Given the description of an element on the screen output the (x, y) to click on. 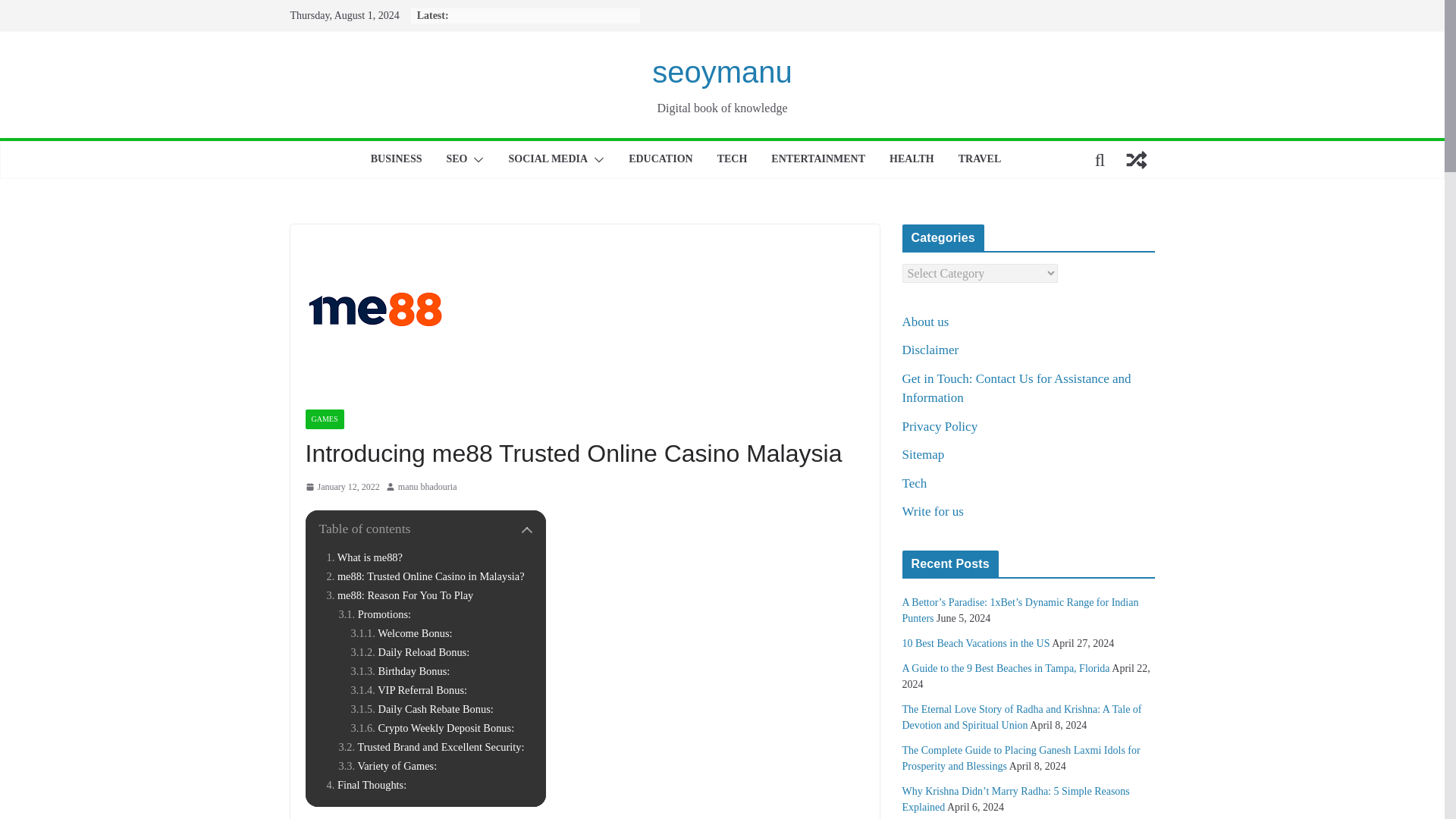
EDUCATION (660, 159)
manu bhadouria (427, 487)
ENTERTAINMENT (817, 159)
SOCIAL MEDIA (548, 159)
Birthday Bonus: (399, 671)
TRAVEL (979, 159)
VIP Referral Bonus: (408, 689)
me88: Trusted Online Casino in Malaysia? (425, 576)
Introducing me88 Trusted Online Casino Malaysia 1 (374, 308)
What is me88? (363, 557)
Welcome Bonus: (400, 633)
me88: Trusted Online Casino in Malaysia? (425, 576)
Birthday Bonus: (399, 671)
Promotions: (373, 614)
GAMES (323, 419)
